Given the description of an element on the screen output the (x, y) to click on. 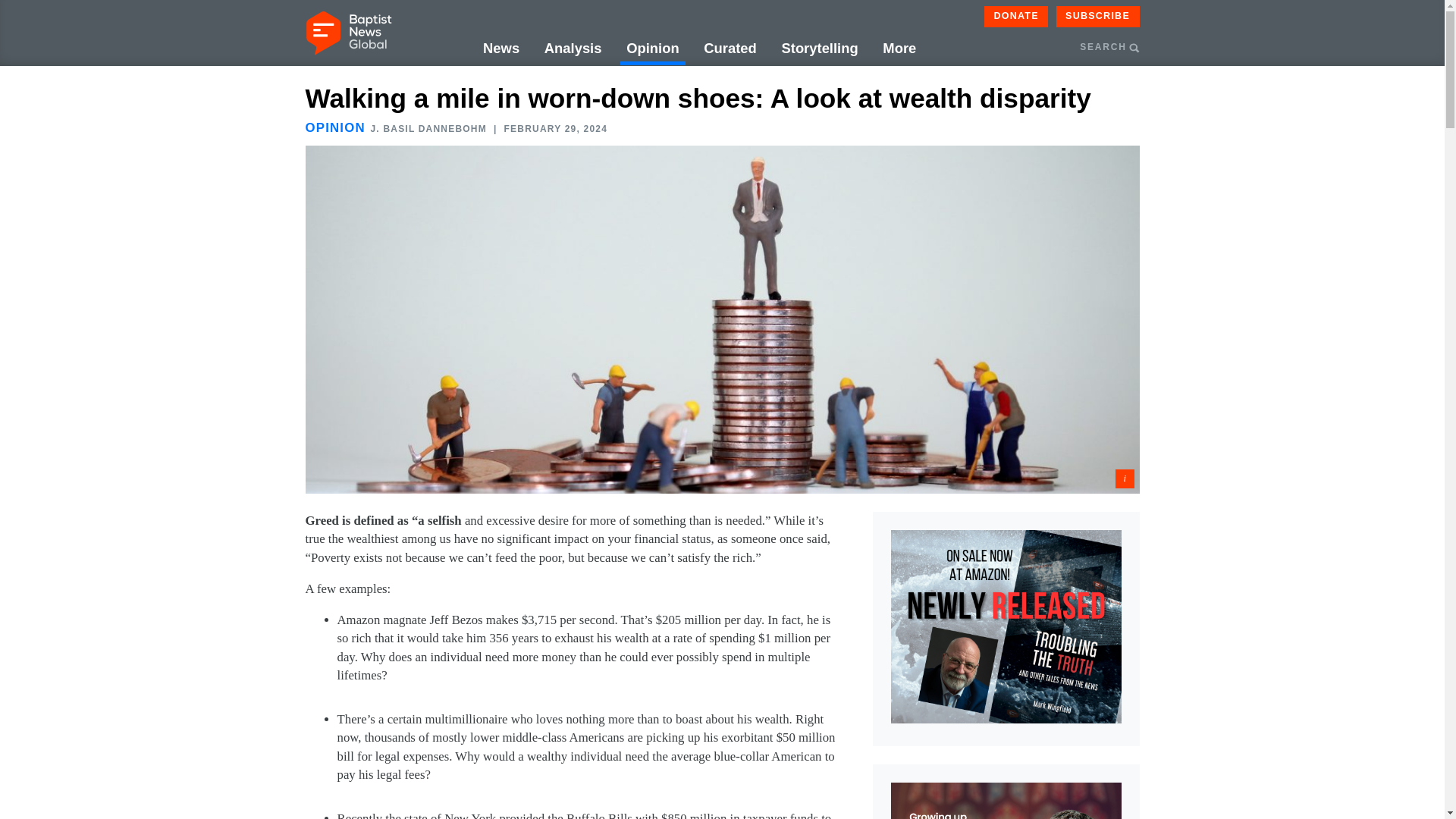
News (501, 49)
OPINION (334, 127)
Analysis (573, 49)
Posts by J. Basil Dannebohm (427, 128)
Search (1193, 119)
SUBSCRIBE (1098, 16)
Storytelling (819, 49)
More (898, 49)
Curated (729, 49)
DONATE (1016, 16)
Opinion (652, 49)
